Given the description of an element on the screen output the (x, y) to click on. 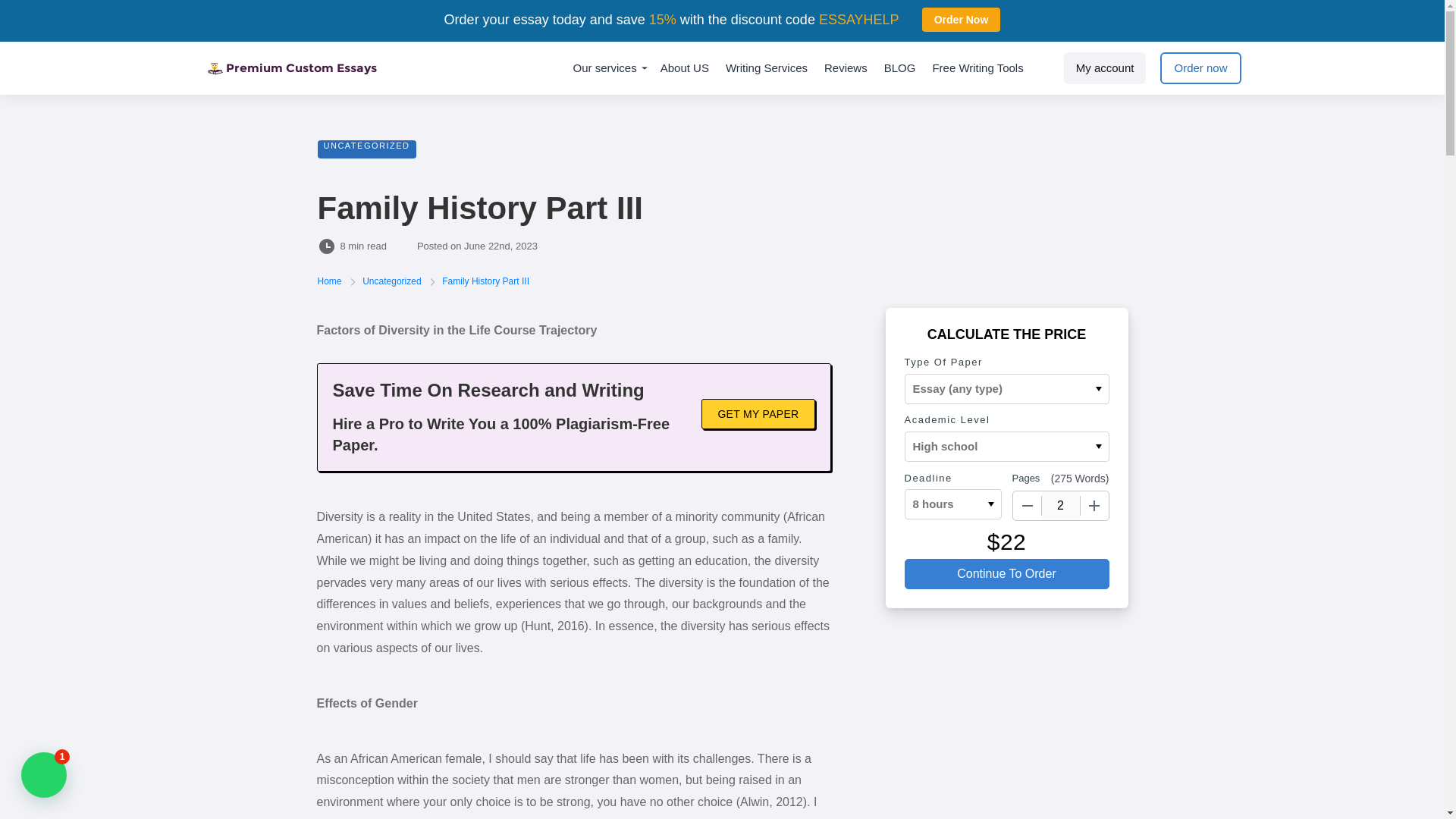
Continue to order (1006, 573)
Reviews (845, 67)
Writing Services (766, 67)
About US (685, 67)
Continue to order (1006, 573)
Order Now (961, 19)
My account (1105, 68)
2 (1061, 505)
GET MY PAPER (757, 413)
Decrease (1027, 505)
